Given the description of an element on the screen output the (x, y) to click on. 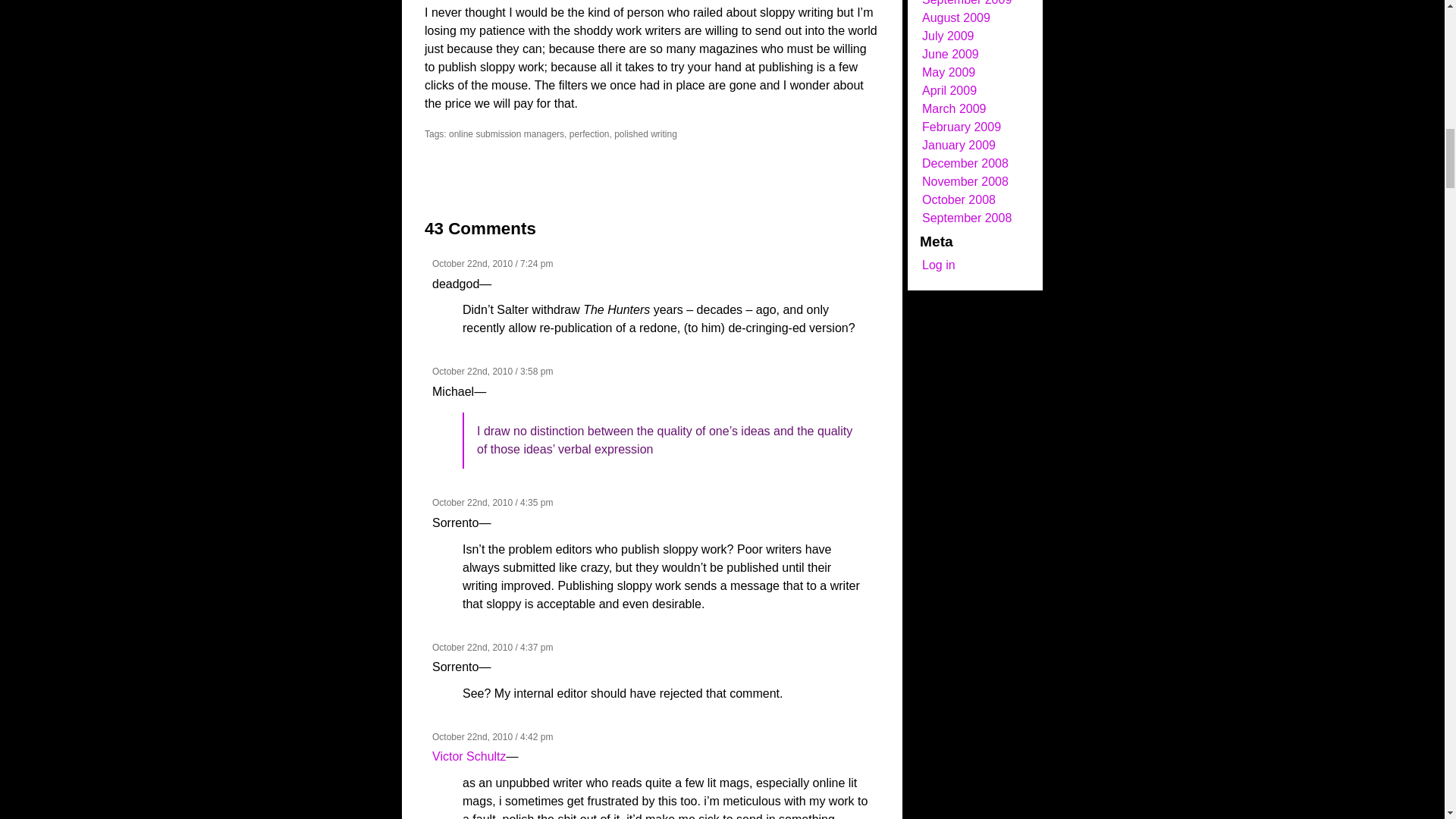
polished writing (645, 133)
Victor Schultz (469, 756)
perfection (589, 133)
online submission managers (506, 133)
